Given the description of an element on the screen output the (x, y) to click on. 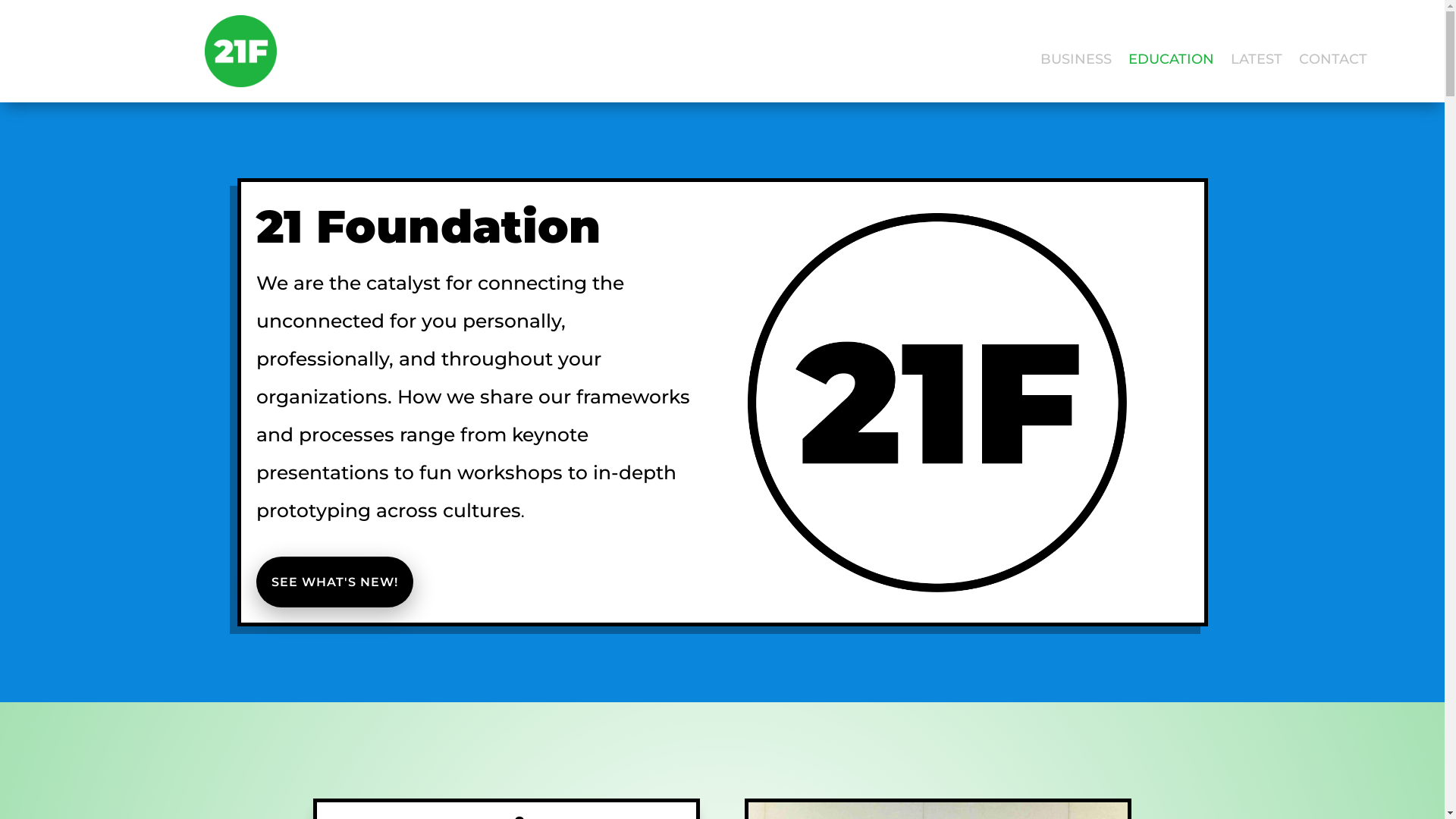
LATEST Element type: text (1256, 61)
EDUCATION Element type: text (1171, 61)
SEE WHAT'S NEW! Element type: text (334, 581)
BUSINESS Element type: text (1075, 61)
CONTACT Element type: text (1333, 61)
21F logo (white) Element type: hover (936, 402)
21F logo (green) Element type: hover (240, 51)
